Given the description of an element on the screen output the (x, y) to click on. 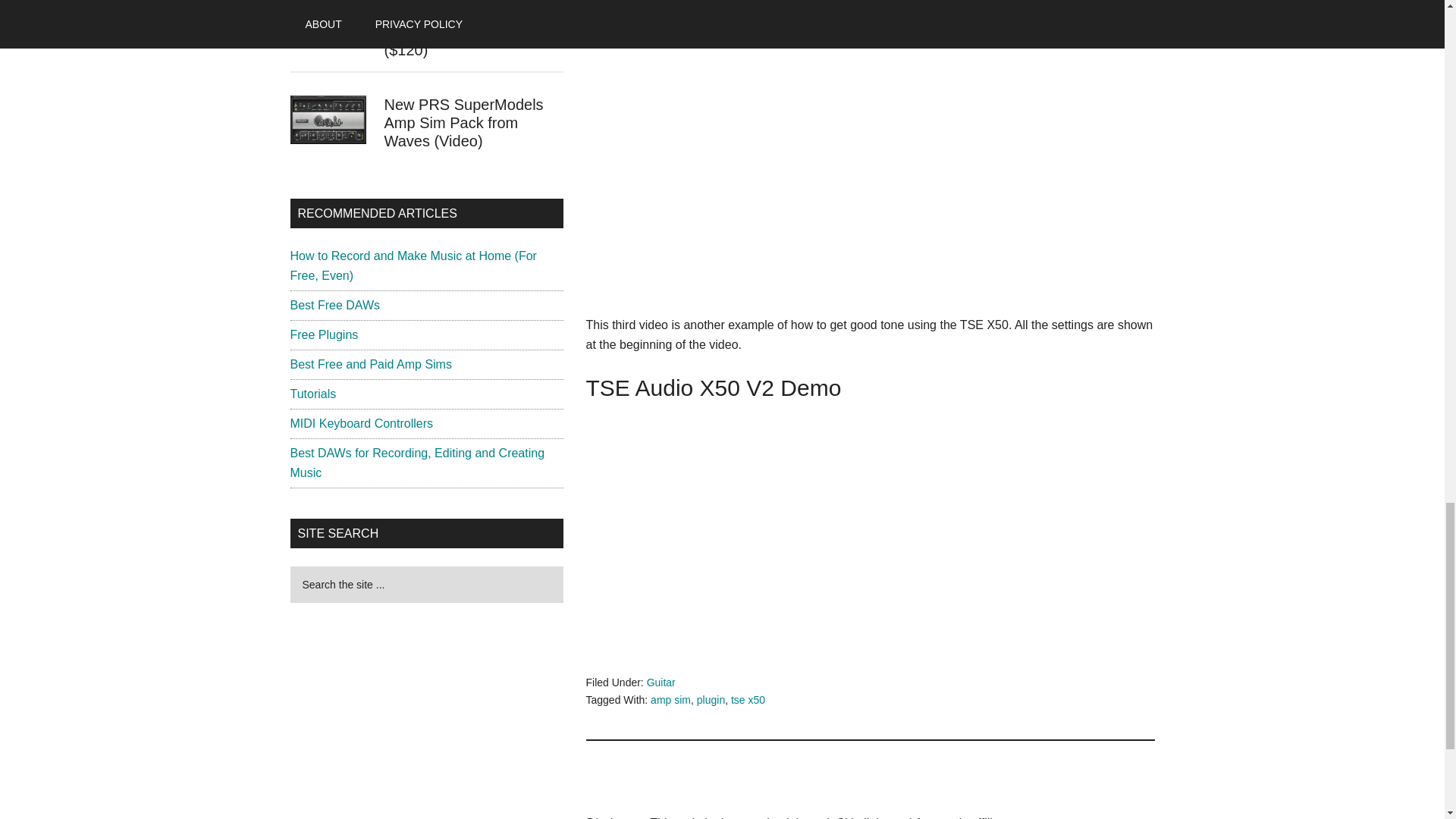
tse x50 (747, 699)
amp sim (670, 699)
Guitar (660, 682)
plugin (711, 699)
